Given the description of an element on the screen output the (x, y) to click on. 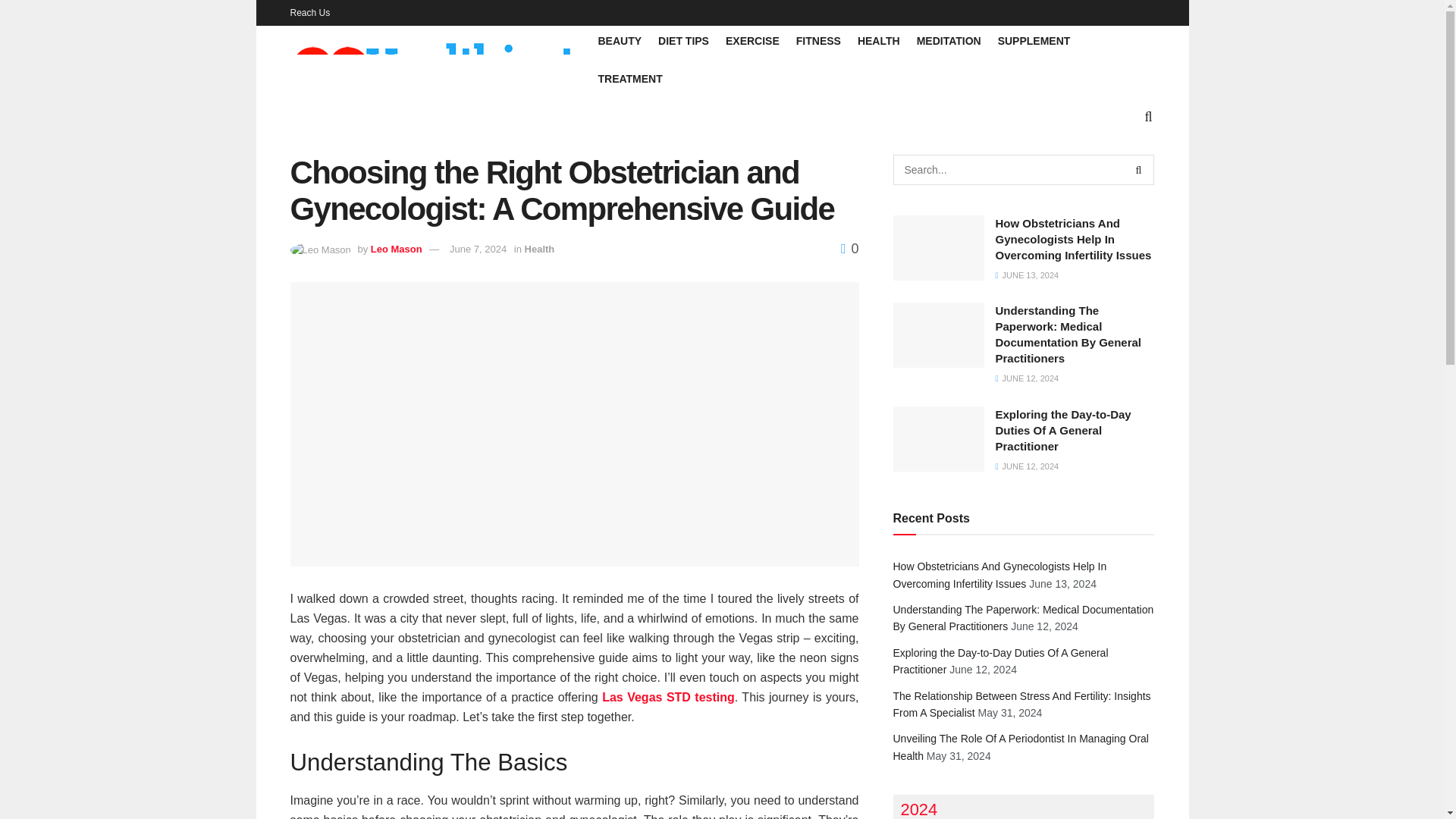
Health (539, 248)
MEDITATION (949, 40)
TREATMENT (629, 78)
0 (850, 248)
June 7, 2024 (477, 248)
BEAUTY (619, 40)
SUPPLEMENT (1033, 40)
Leo Mason (396, 248)
DIET TIPS (683, 40)
EXERCISE (751, 40)
FITNESS (818, 40)
Las Vegas STD testing (668, 697)
HEALTH (878, 40)
Reach Us (309, 12)
